Given the description of an element on the screen output the (x, y) to click on. 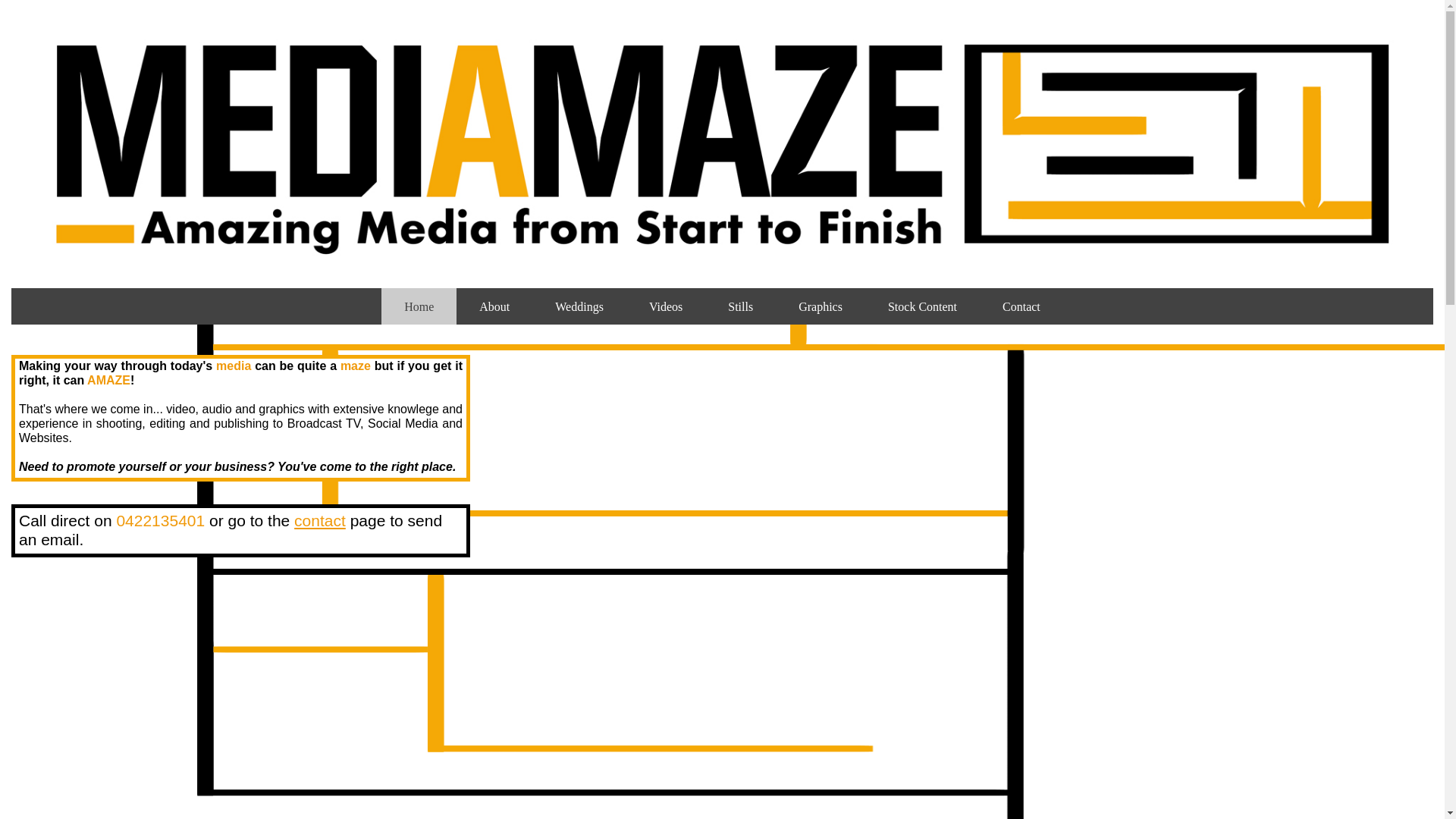
Videos Element type: text (665, 306)
Contact Element type: text (1021, 306)
Weddings Element type: text (579, 306)
Stills Element type: text (740, 306)
Home Element type: text (418, 306)
Graphics Element type: text (820, 306)
Stock Content Element type: text (922, 306)
contact Element type: text (319, 520)
About Element type: text (494, 306)
